Given the description of an element on the screen output the (x, y) to click on. 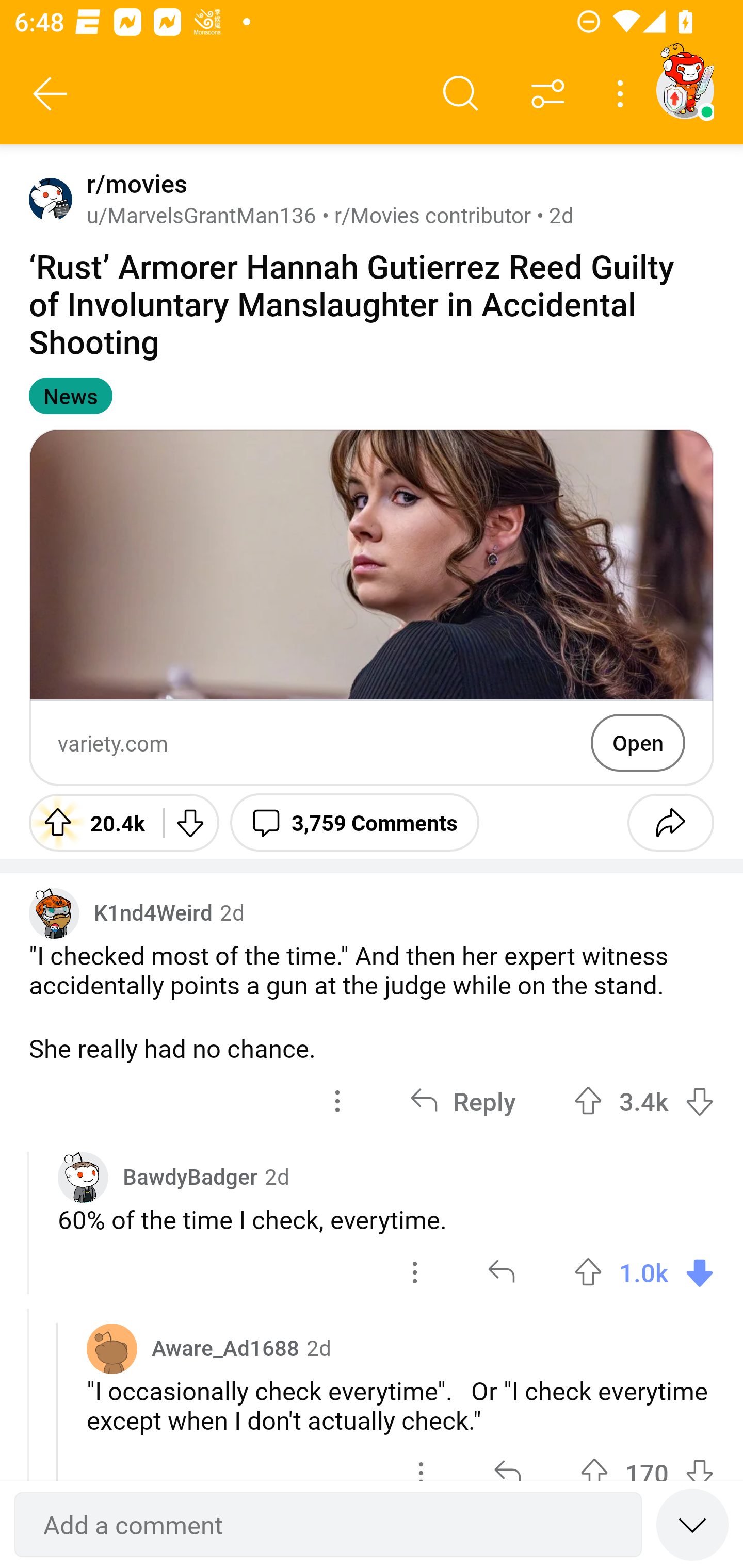
Back (50, 93)
TestAppium002 account (685, 90)
Search comments (460, 93)
Sort comments (547, 93)
More options (623, 93)
r/movies (133, 183)
Avatar (50, 199)
News (70, 395)
Preview Image variety.com Open (371, 606)
Open (637, 742)
Upvote 20.4k (88, 822)
Downvote (189, 822)
3,759 Comments (354, 822)
Share (670, 822)
Custom avatar (53, 912)
options (337, 1100)
Reply (462, 1100)
Upvote 3.4k 3422 votes Downvote (643, 1100)
Custom avatar (82, 1177)
60% of the time I check, everytime. (385, 1218)
options (414, 1272)
Upvote 1.0k 1006 votes Downvote (643, 1272)
Avatar (111, 1348)
Speed read (692, 1524)
Add a comment (327, 1524)
